Given the description of an element on the screen output the (x, y) to click on. 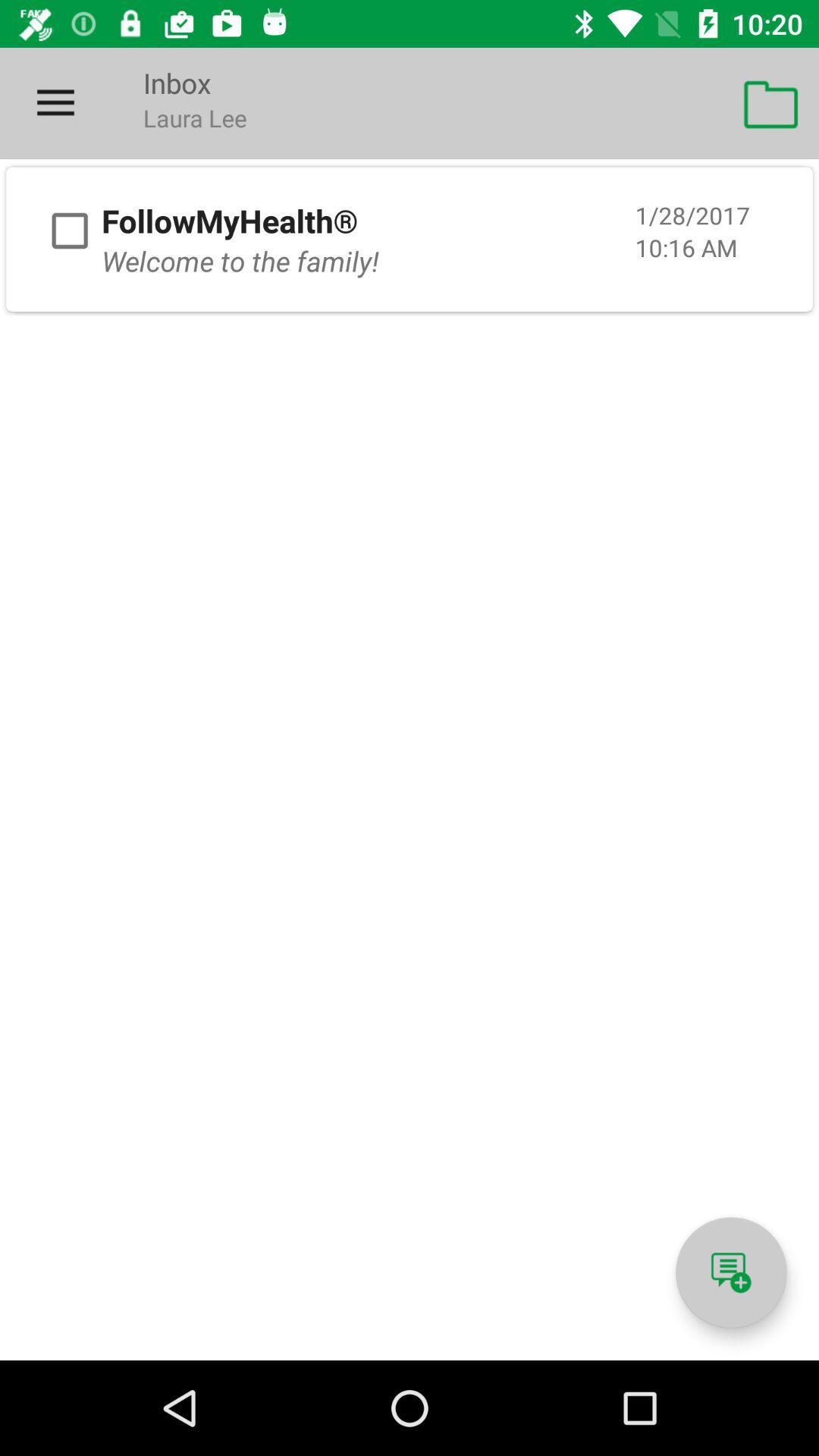
press icon to the left of inbox (55, 103)
